Given the description of an element on the screen output the (x, y) to click on. 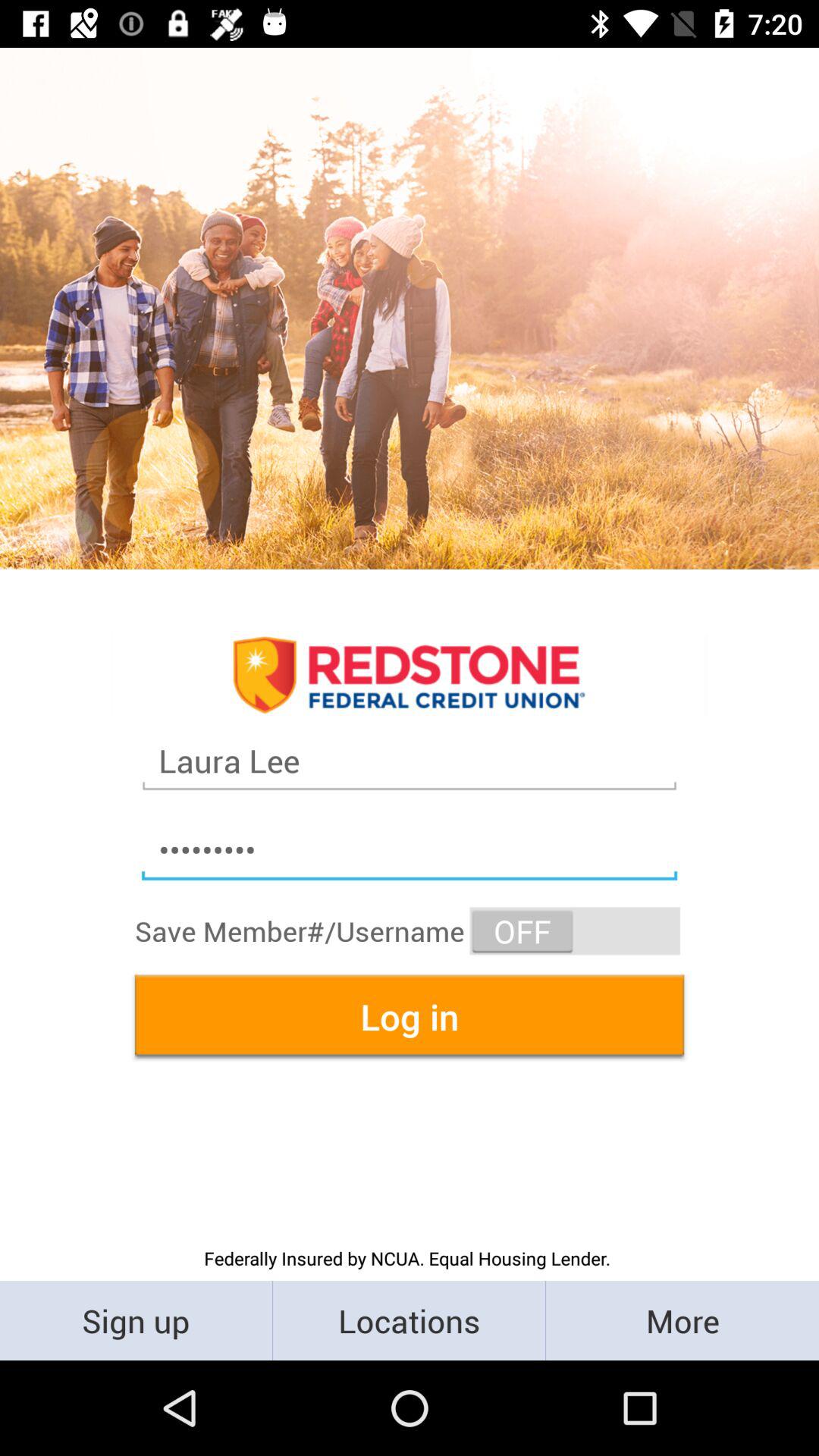
swipe to the crowd3116 item (409, 850)
